Given the description of an element on the screen output the (x, y) to click on. 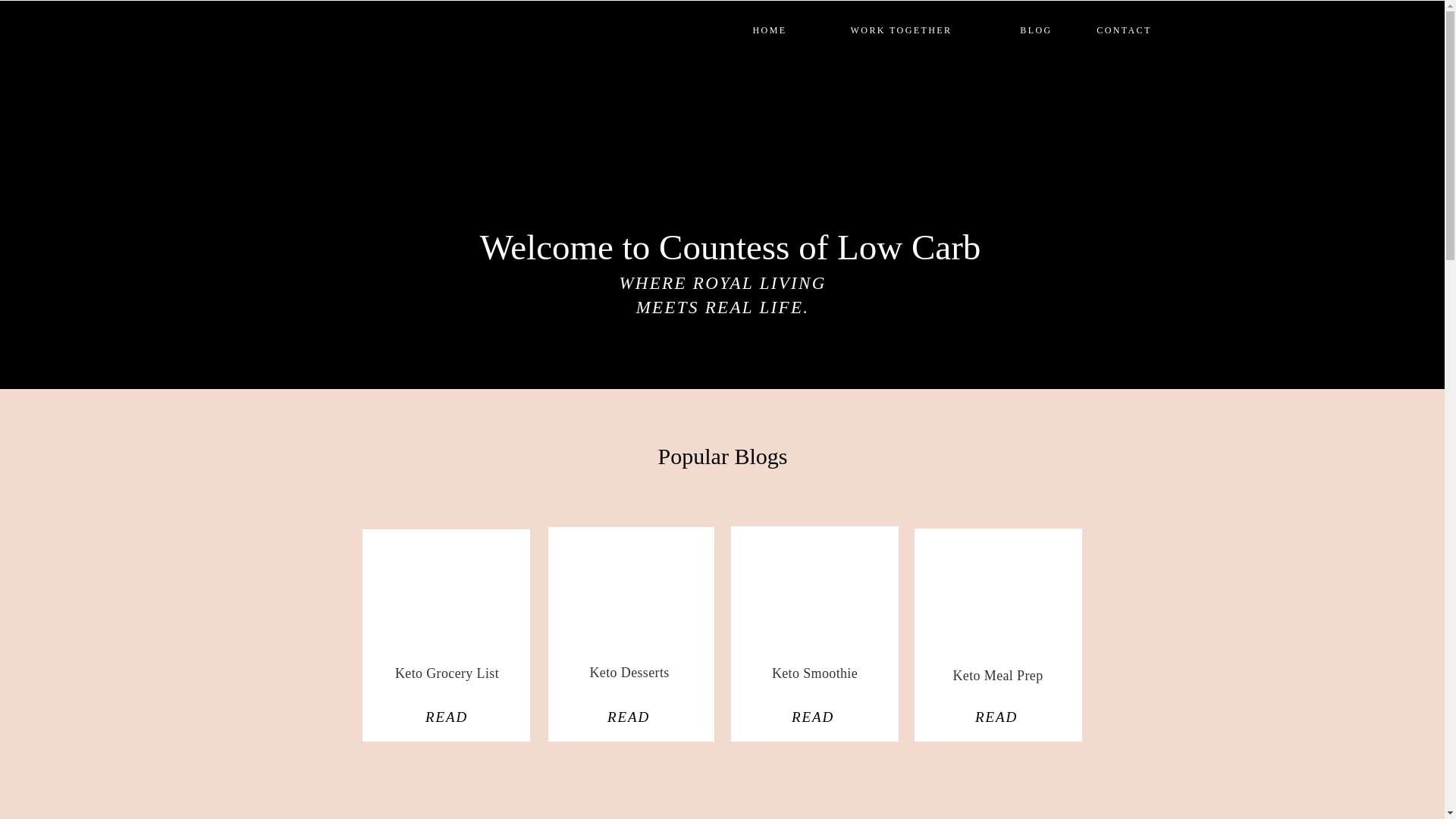
CONTACT (1124, 31)
READ (996, 716)
READ (627, 717)
HOME (769, 30)
READ (812, 719)
Pinterest (445, 588)
BLOG (1036, 30)
READ (445, 718)
WORK TOGETHER (901, 30)
